Given the description of an element on the screen output the (x, y) to click on. 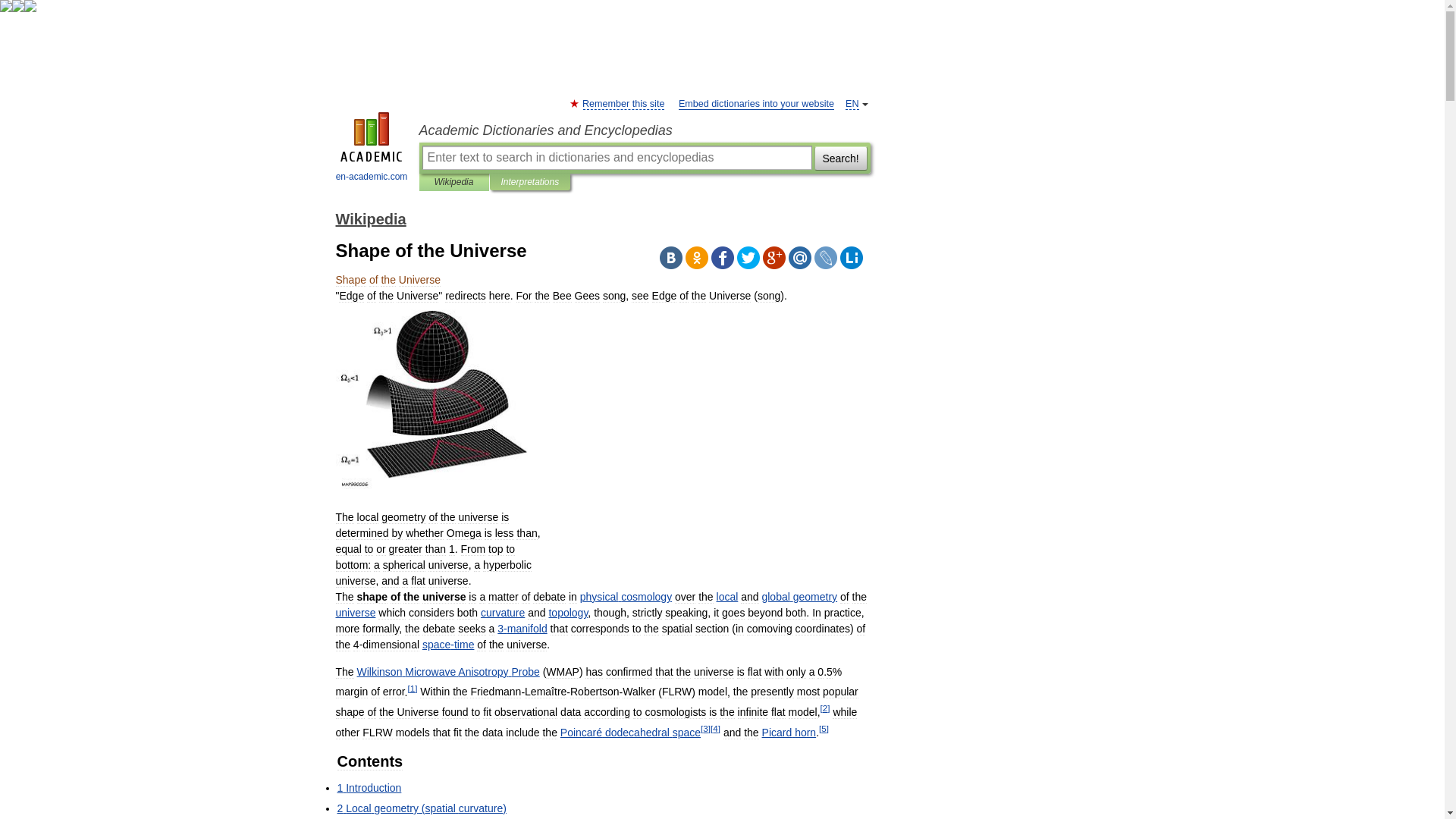
global geometry (799, 596)
curvature (502, 612)
EN (852, 103)
topology (568, 612)
Embed dictionaries into your website (756, 103)
universe (354, 612)
Wikipedia (370, 218)
Enter text to search in dictionaries and encyclopedias (616, 157)
Search! (840, 157)
space-time (448, 644)
